Given the description of an element on the screen output the (x, y) to click on. 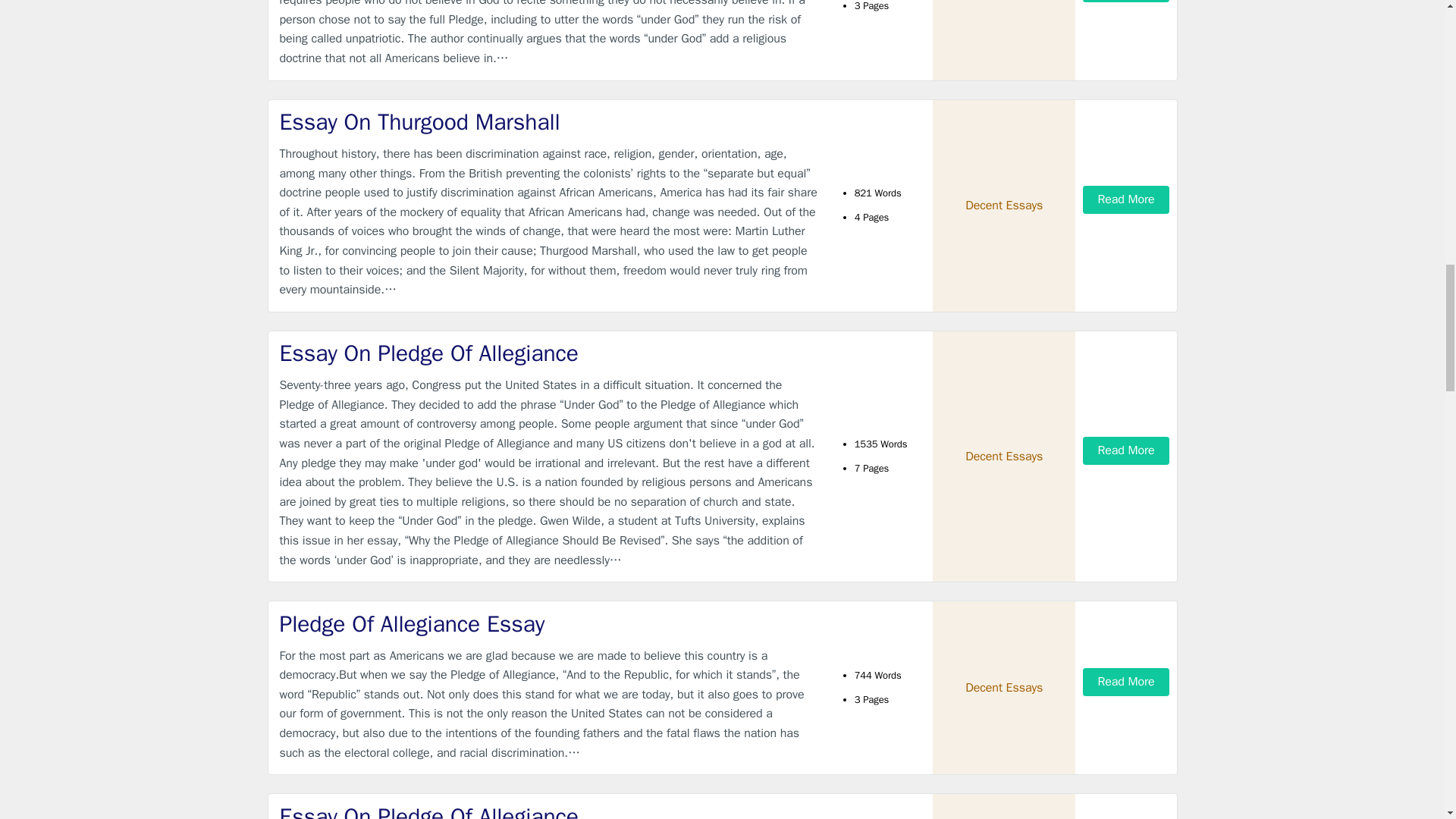
Pledge Of Allegiance Essay (548, 624)
Read More (1126, 450)
Read More (1126, 1)
Read More (1126, 682)
Essay On Pledge Of Allegiance (548, 353)
Essay On Thurgood Marshall (548, 122)
Read More (1126, 199)
Essay On Pledge Of Allegiance (548, 810)
